Given the description of an element on the screen output the (x, y) to click on. 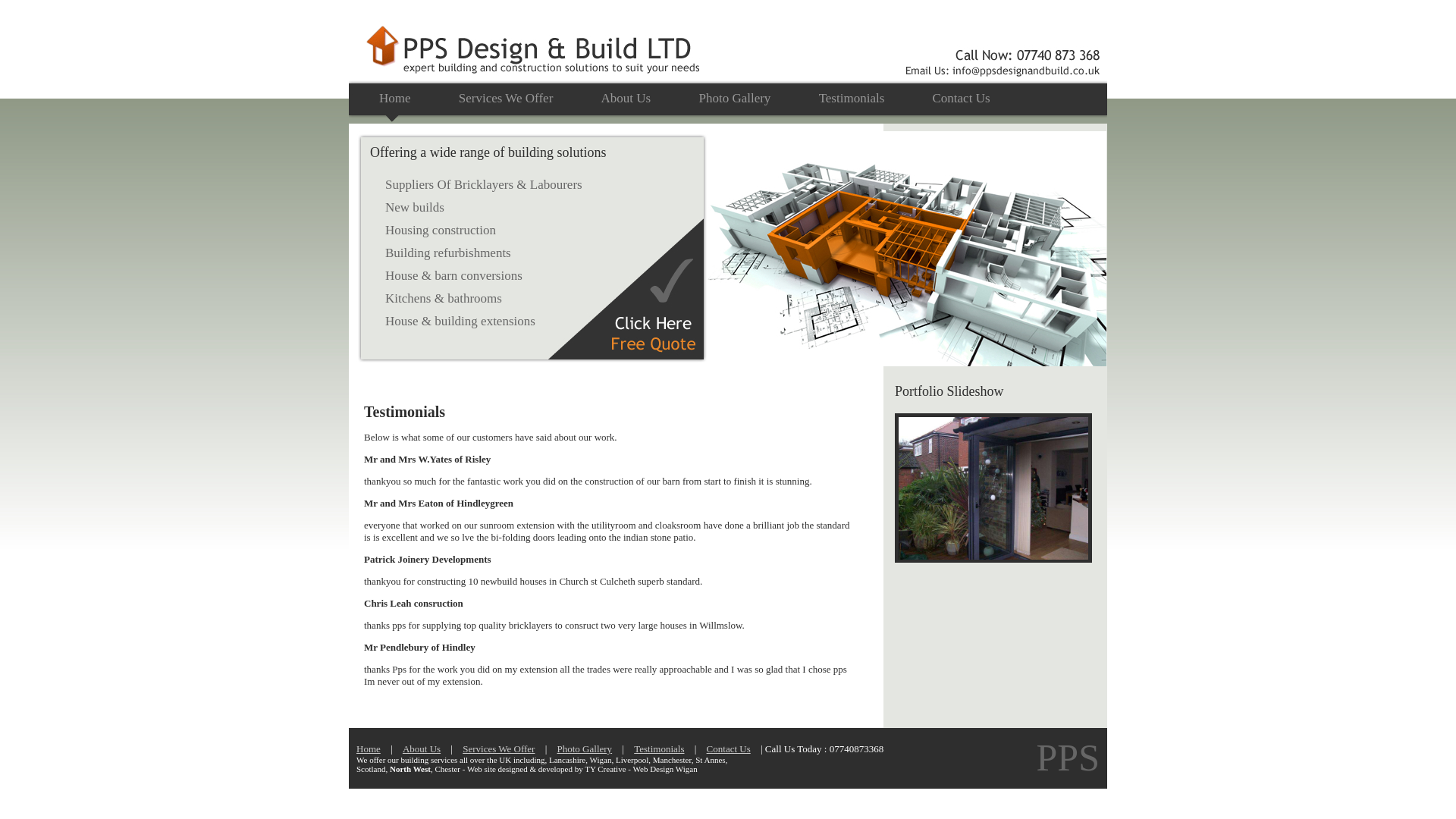
Contact Us (961, 97)
Photo Gallery (585, 748)
Contact Us (728, 748)
Home (394, 97)
Services We Offer (497, 748)
Home (368, 748)
Services We Offer (505, 97)
Photo Gallery (734, 97)
About Us (626, 97)
Testimonials (658, 748)
About Us (421, 748)
Testimonials (851, 97)
